Given the description of an element on the screen output the (x, y) to click on. 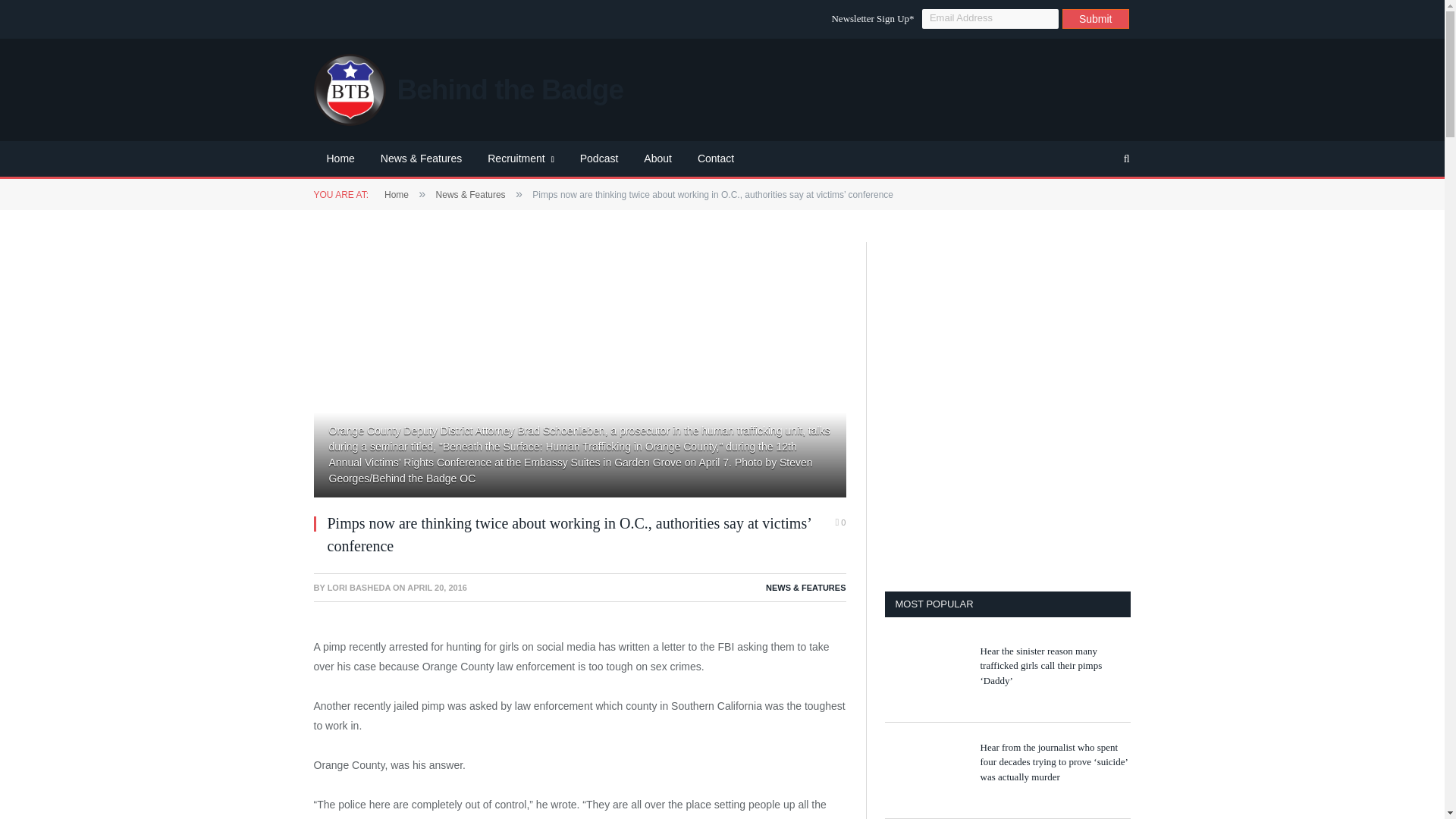
About (657, 159)
Podcast (599, 159)
Home (396, 194)
Submit (1095, 18)
Behind the Badge (469, 89)
Contact (715, 159)
2016-04-20 (437, 587)
Recruitment (520, 159)
Behind the Badge (469, 89)
Home (341, 159)
Submit (1095, 18)
